Given the description of an element on the screen output the (x, y) to click on. 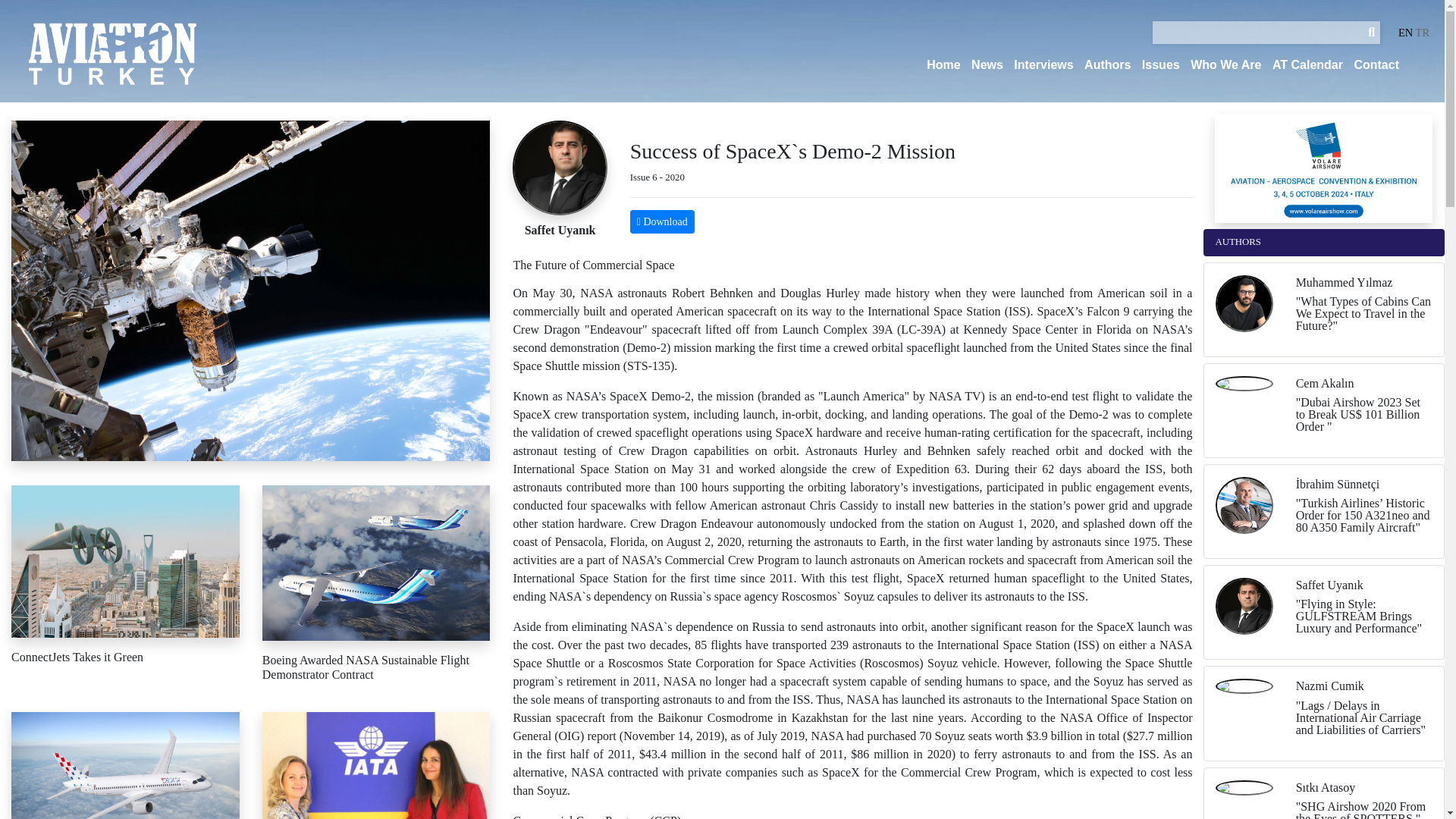
Home (942, 65)
Authors (1107, 65)
TR (1422, 32)
Interviews (1043, 65)
Contact (1376, 65)
AT Calendar (1307, 65)
Download (662, 221)
News (987, 65)
EN (1404, 32)
Issues (1160, 65)
